Given the description of an element on the screen output the (x, y) to click on. 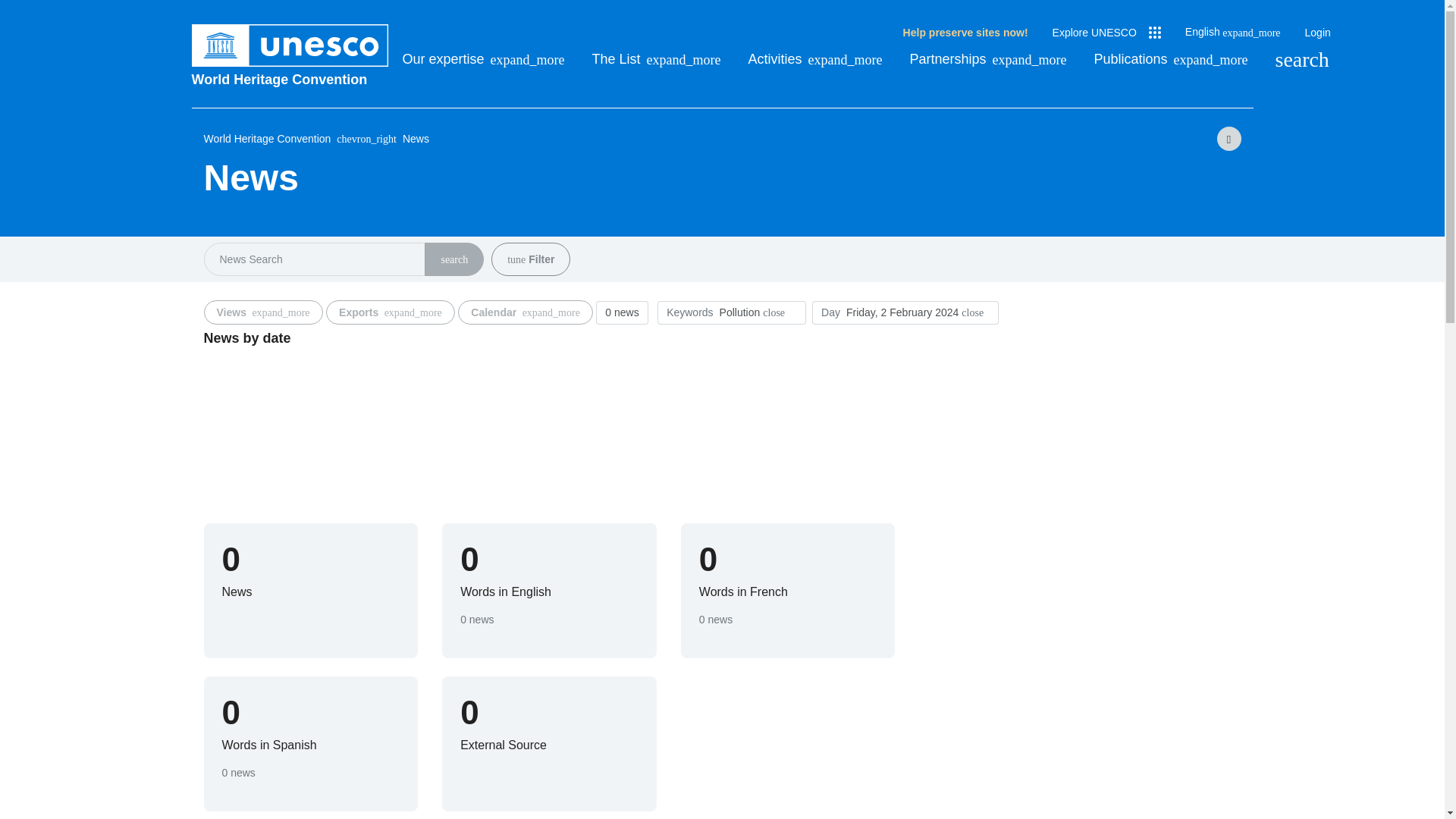
Share (1228, 138)
Help preserve sites now! (964, 32)
The List (656, 58)
Filter your search (515, 259)
English (1233, 32)
Login (1317, 32)
Search (1302, 59)
News Search (454, 259)
Explore UNESCO (1106, 32)
World Heritage Convention (289, 79)
Our expertise (482, 58)
